Given the description of an element on the screen output the (x, y) to click on. 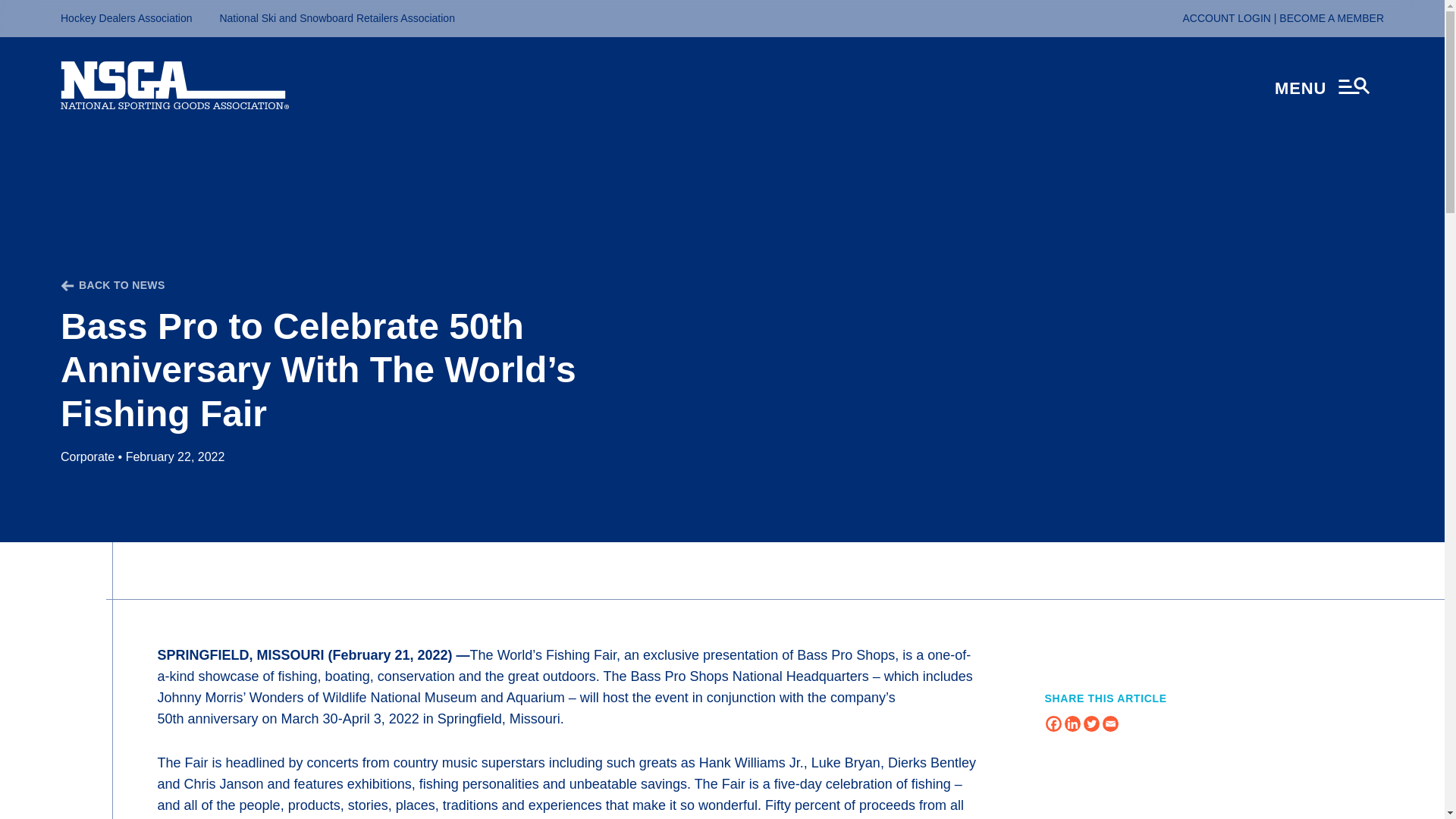
Twitter (1091, 723)
Facebook (1053, 723)
Linkedin (1072, 723)
Email (1110, 723)
